Given the description of an element on the screen output the (x, y) to click on. 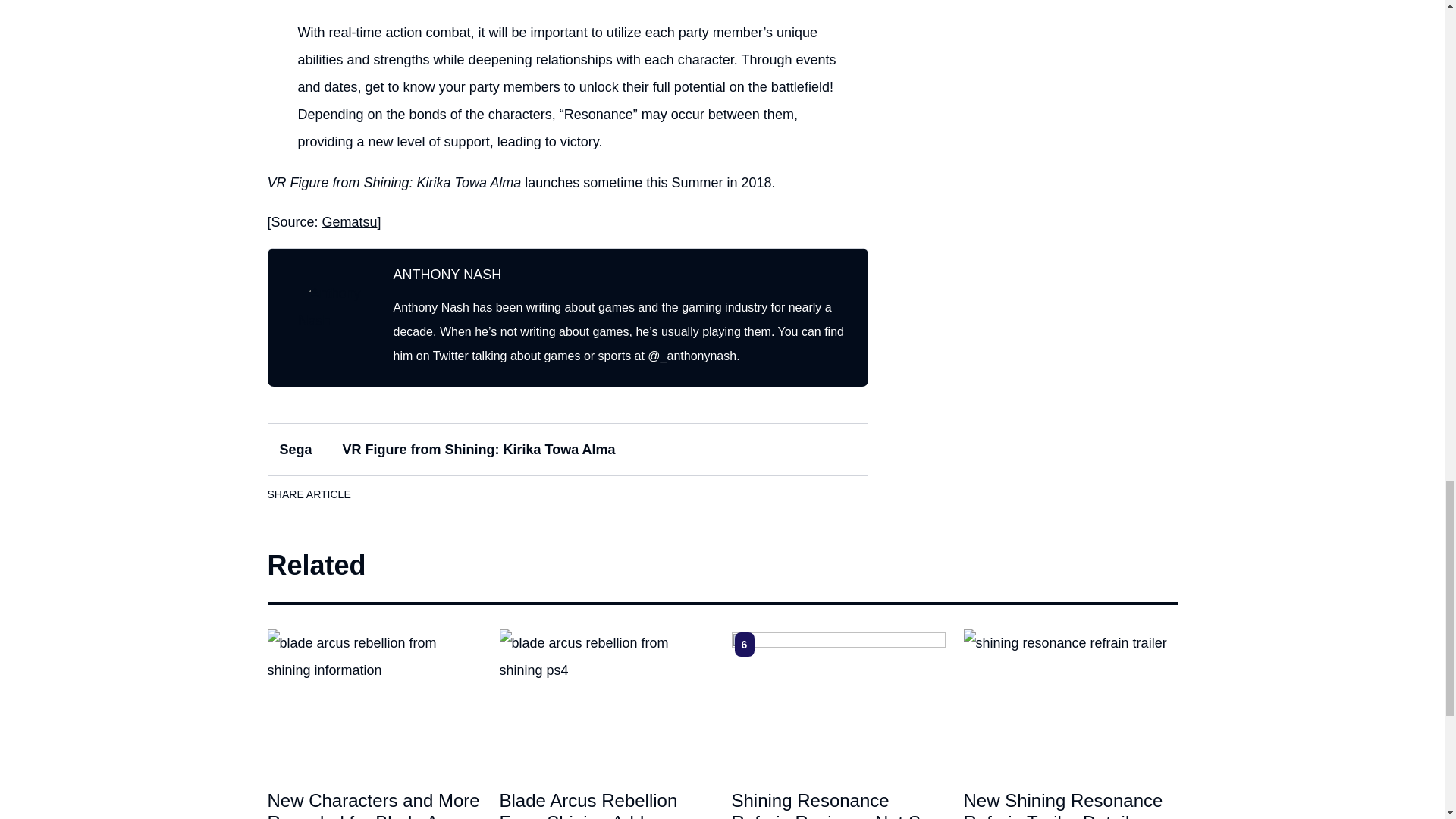
LinkedIn (420, 494)
Facebook (377, 494)
Pinterest (505, 494)
VR Figure from Shining: Kirika Towa Alma (478, 449)
ANTHONY NASH (446, 273)
Gematsu (349, 222)
New Shining Resonance Refrain Trailer Details Story (1069, 700)
